Given the description of an element on the screen output the (x, y) to click on. 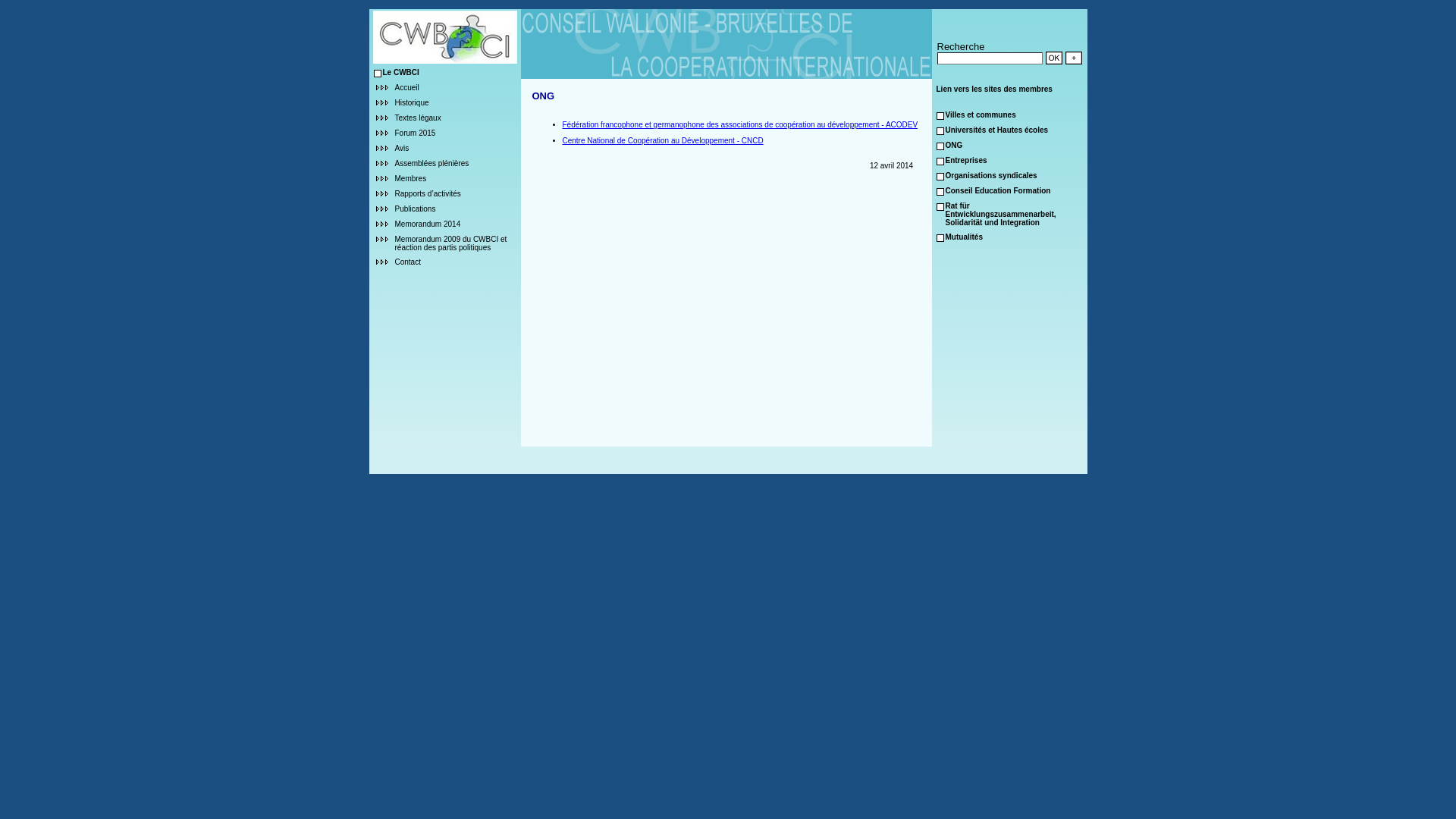
Conseil Education Formation Element type: text (997, 188)
Memorandum 2014 Element type: text (427, 222)
ONG Element type: text (953, 143)
Contact Element type: text (407, 260)
Entreprises Element type: text (965, 158)
Organisations syndicales Element type: text (990, 173)
Avis Element type: text (401, 146)
Villes et communes Element type: text (979, 112)
Publications Element type: text (414, 206)
Historique Element type: text (411, 100)
Forum 2015 Element type: text (414, 131)
Accueil Element type: text (406, 85)
Membres Element type: text (410, 176)
